Given the description of an element on the screen output the (x, y) to click on. 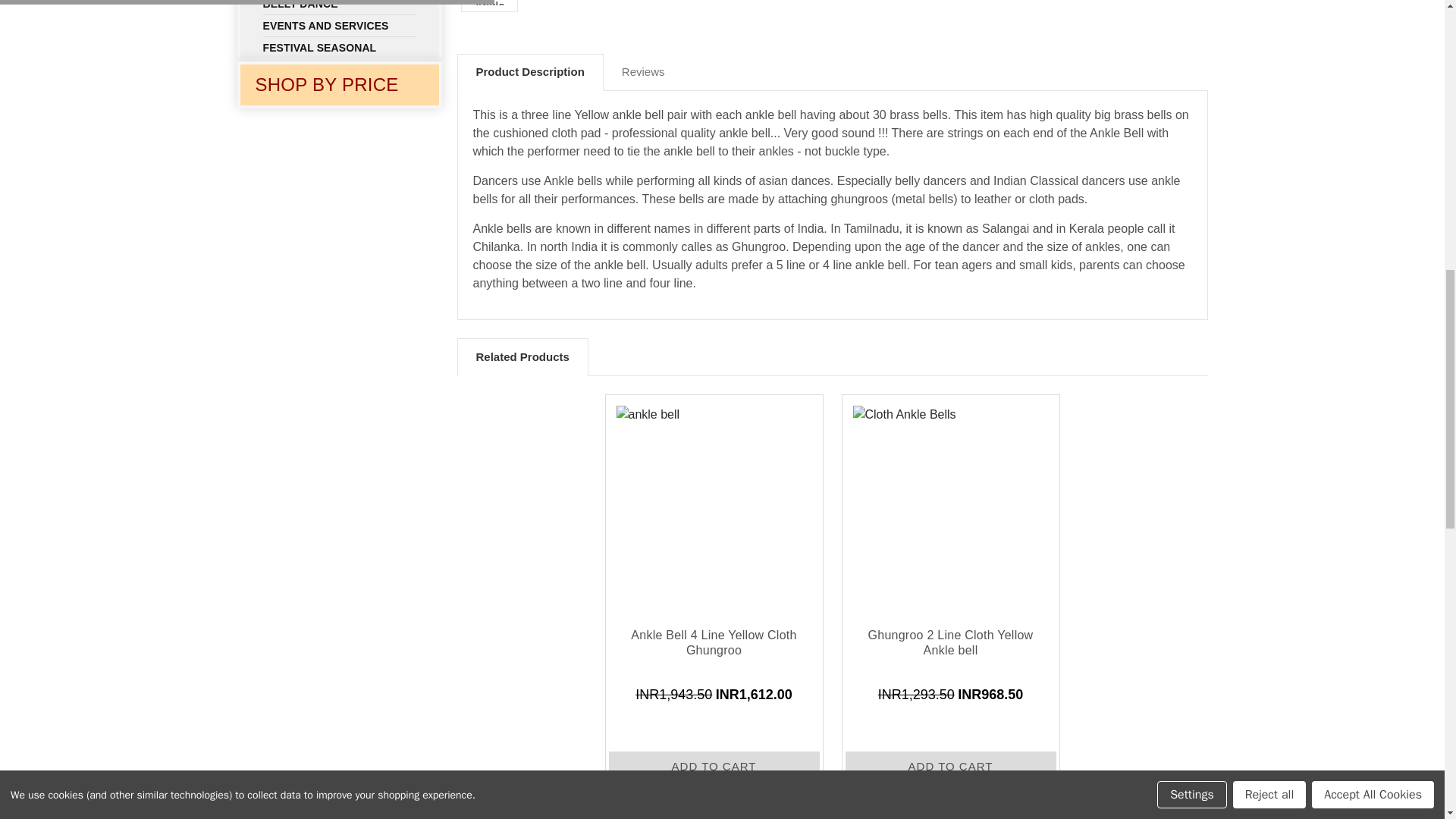
ankle bell (713, 503)
Cloth Ankle Bells (489, 2)
Cloth Ankle Bells (949, 503)
